Given the description of an element on the screen output the (x, y) to click on. 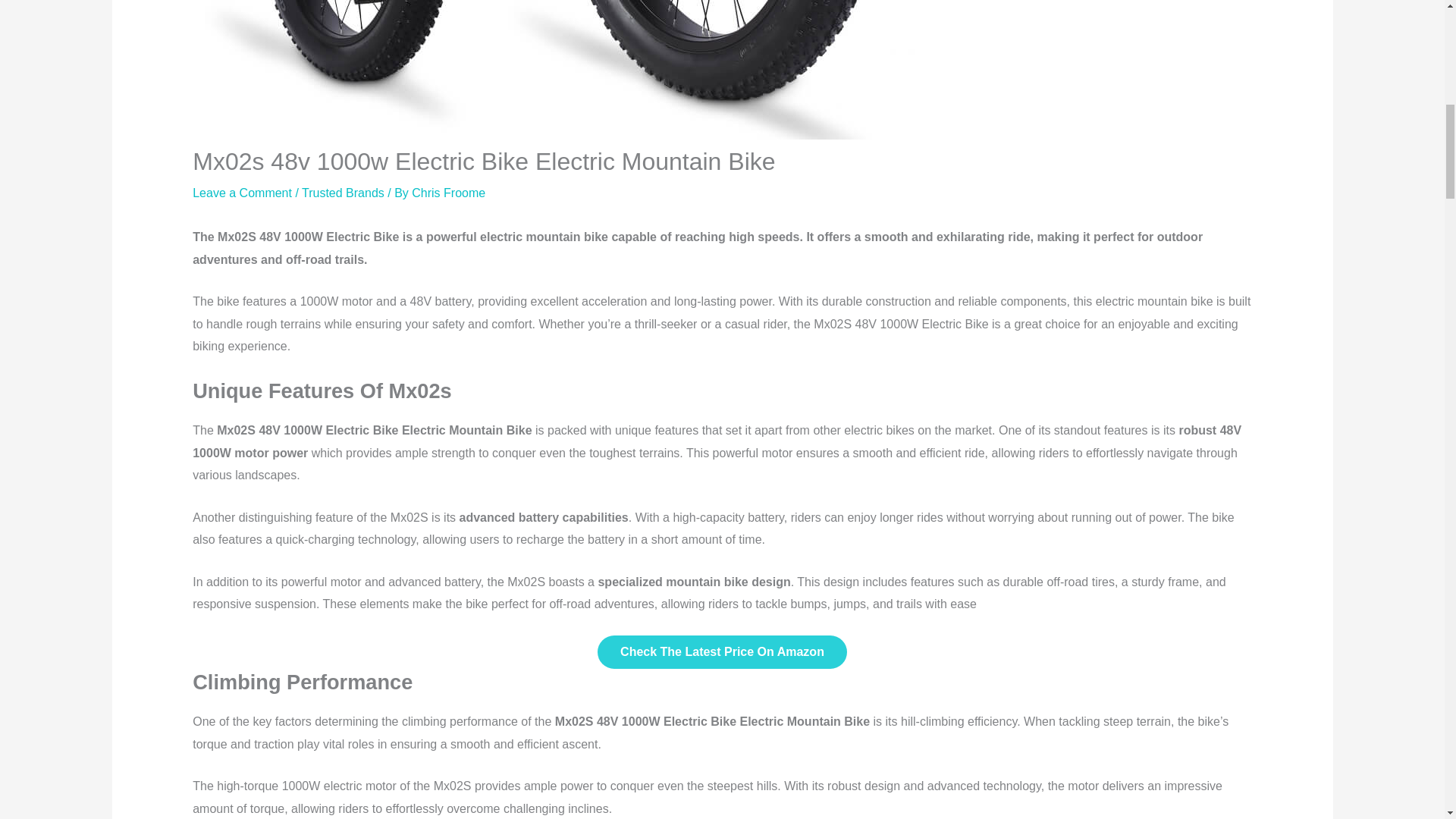
View all posts by Chris Froome (448, 192)
Trusted Brands (342, 192)
Leave a Comment (242, 192)
Check The Latest Price On Amazon (721, 652)
Chris Froome (448, 192)
